Given the description of an element on the screen output the (x, y) to click on. 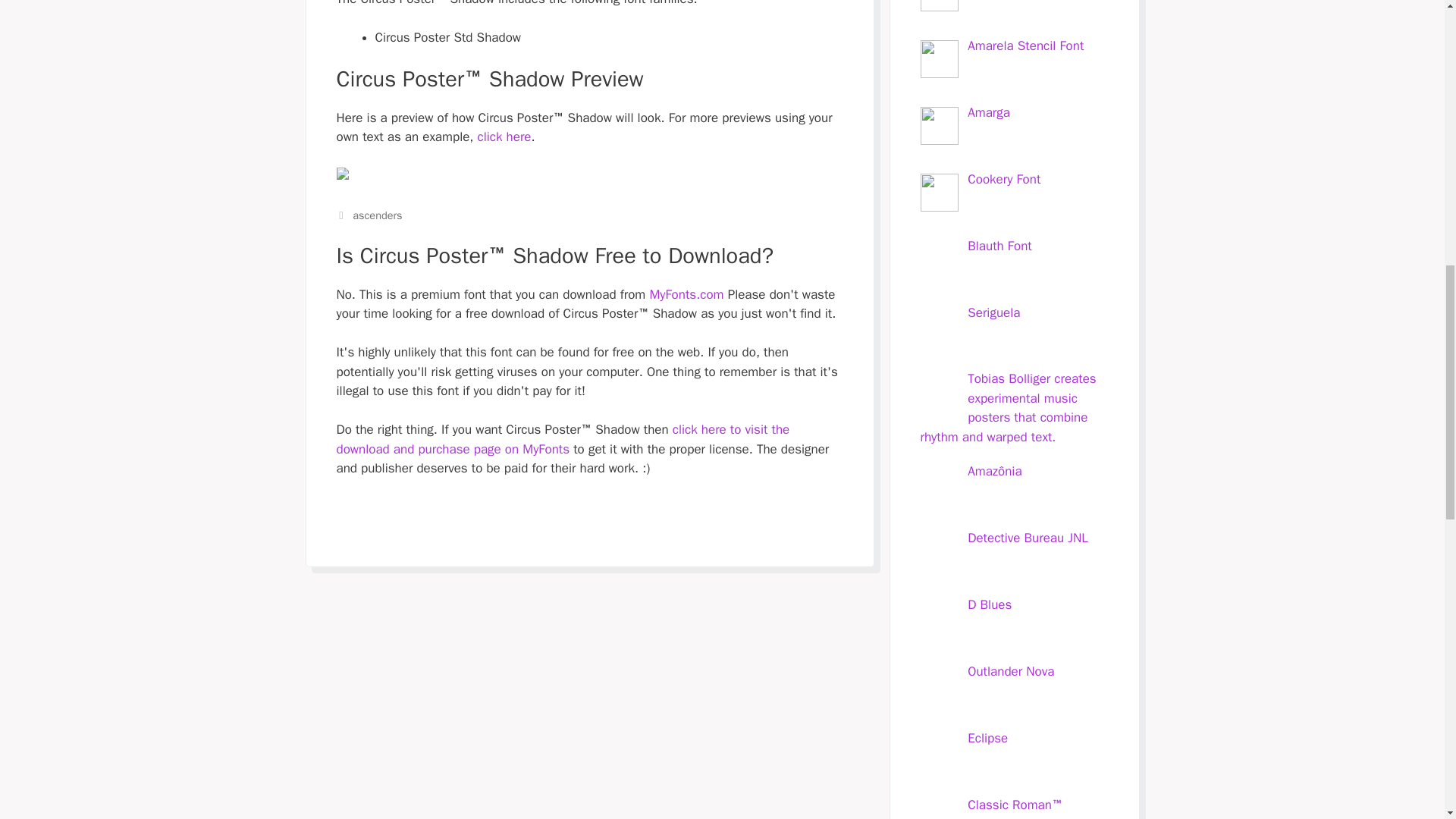
Blauth Font (1000, 245)
D Blues (989, 604)
Eclipse (987, 738)
Cookery Font (1004, 179)
ascenders (376, 214)
Amarela Stencil Font (1025, 45)
Outlander Nova (1011, 671)
click here (504, 136)
